Given the description of an element on the screen output the (x, y) to click on. 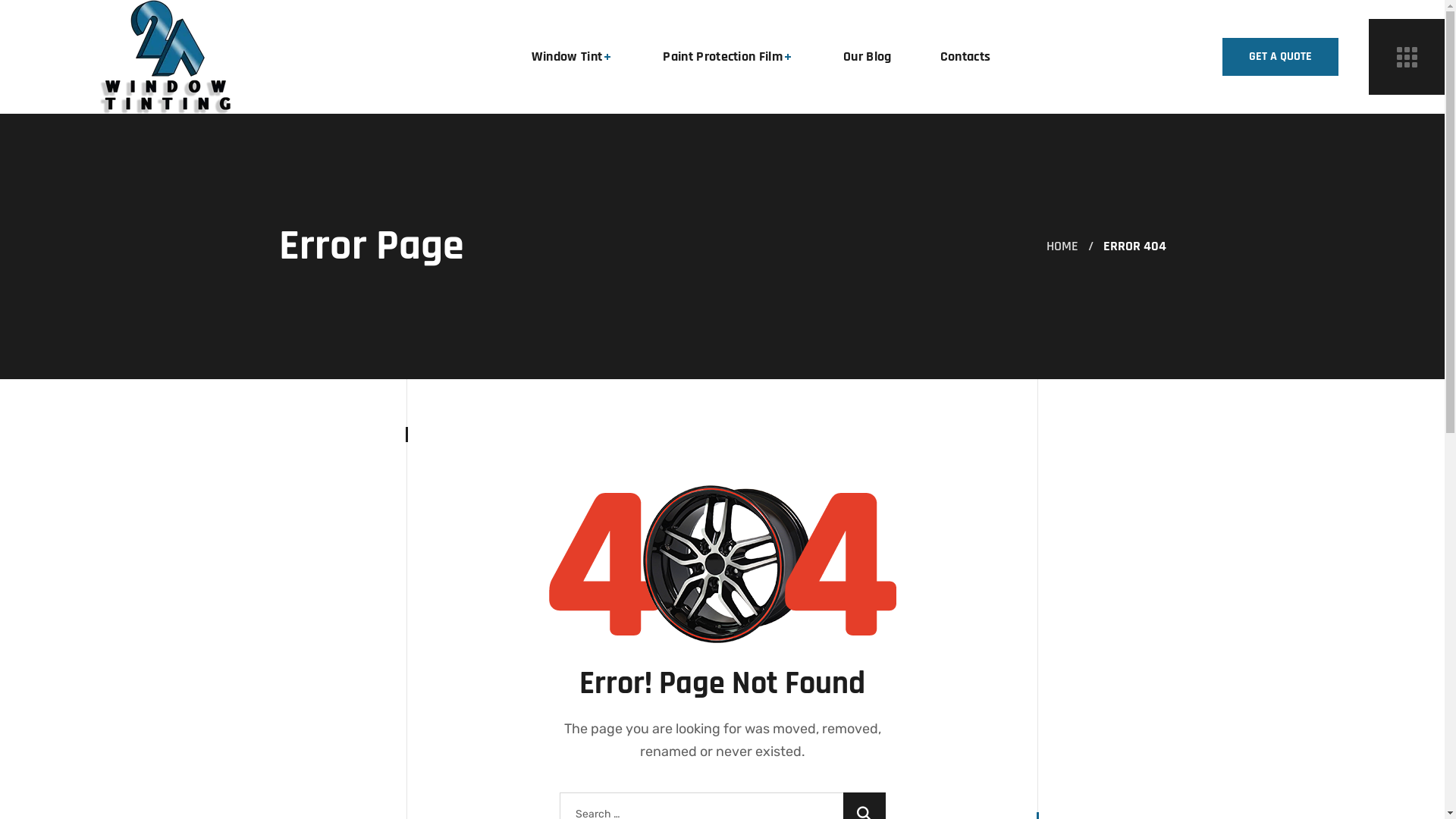
GET A QUOTE Element type: text (1280, 56)
Our Blog Element type: text (867, 56)
Paint Protection Film Element type: text (728, 56)
Contacts Element type: text (965, 56)
HOME Element type: text (1062, 245)
Window Tint Element type: text (573, 56)
